Given the description of an element on the screen output the (x, y) to click on. 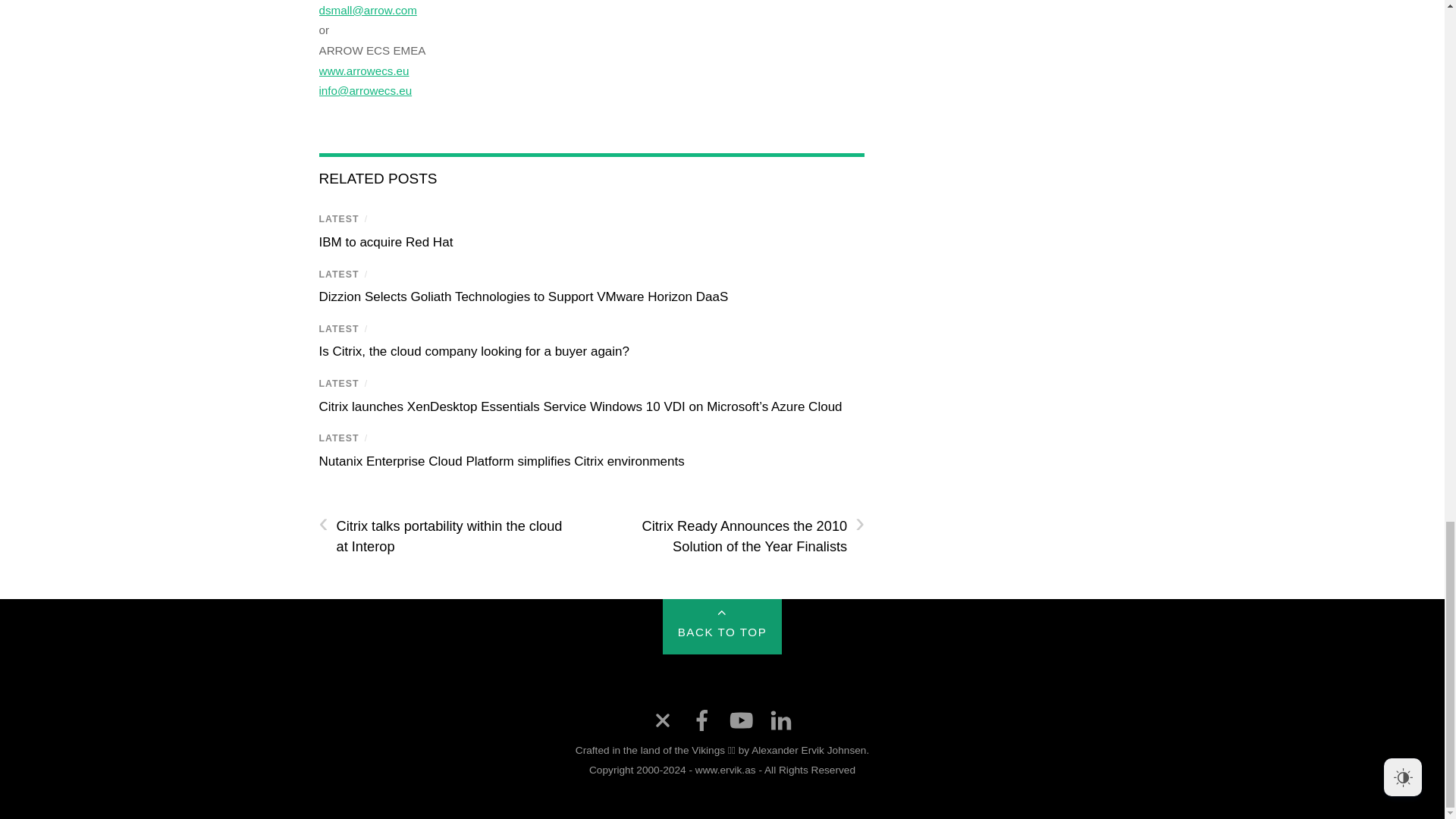
Is Citrix, the cloud company looking for a buyer again? (473, 350)
IBM to acquire Red Hat (385, 242)
